Given the description of an element on the screen output the (x, y) to click on. 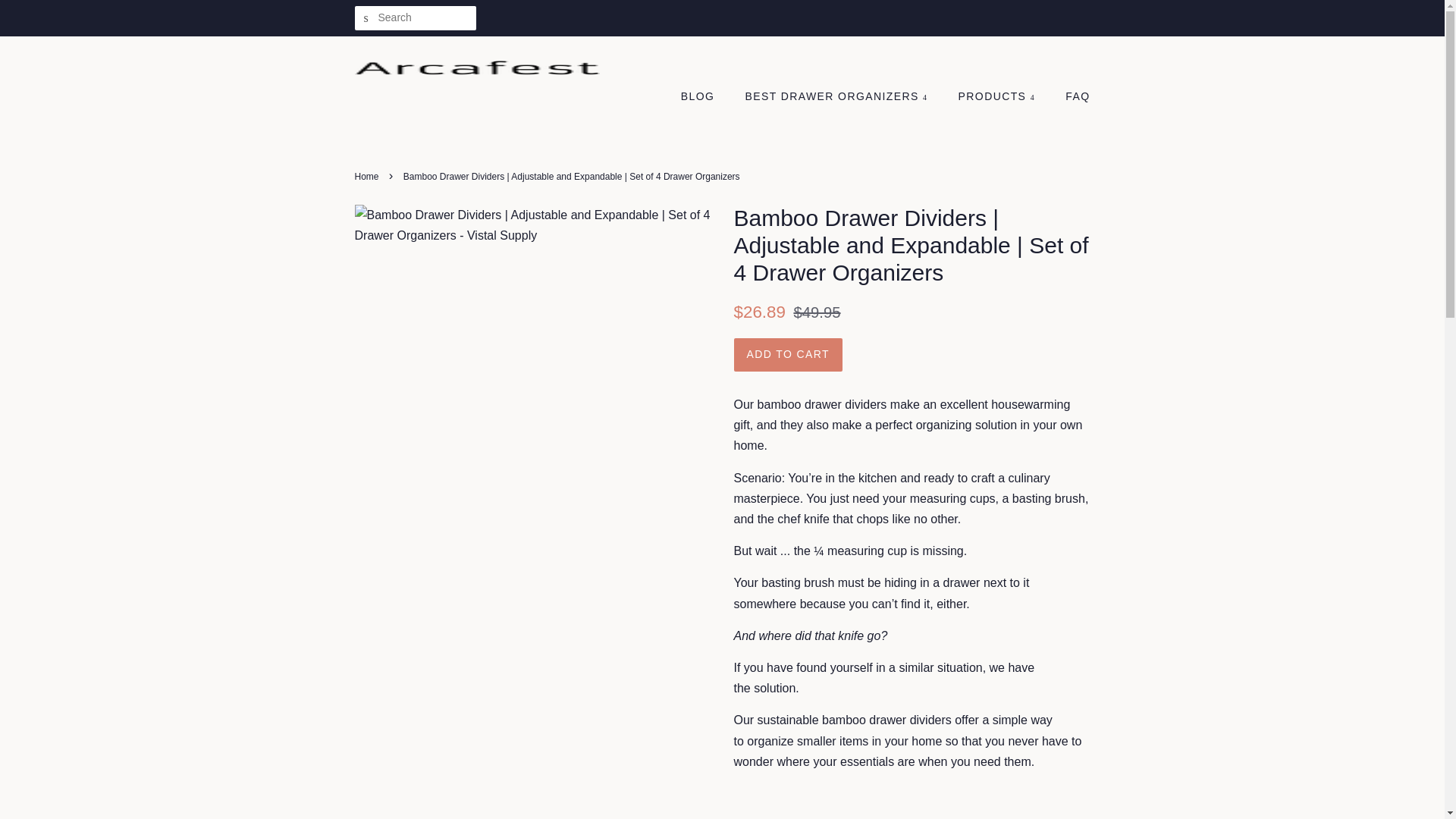
FAQ (1071, 96)
Back to the frontpage (368, 176)
BLOG (705, 96)
BEST DRAWER ORGANIZERS (838, 96)
ADD TO CART (788, 354)
SEARCH (366, 18)
PRODUCTS (998, 96)
Home (368, 176)
